Given the description of an element on the screen output the (x, y) to click on. 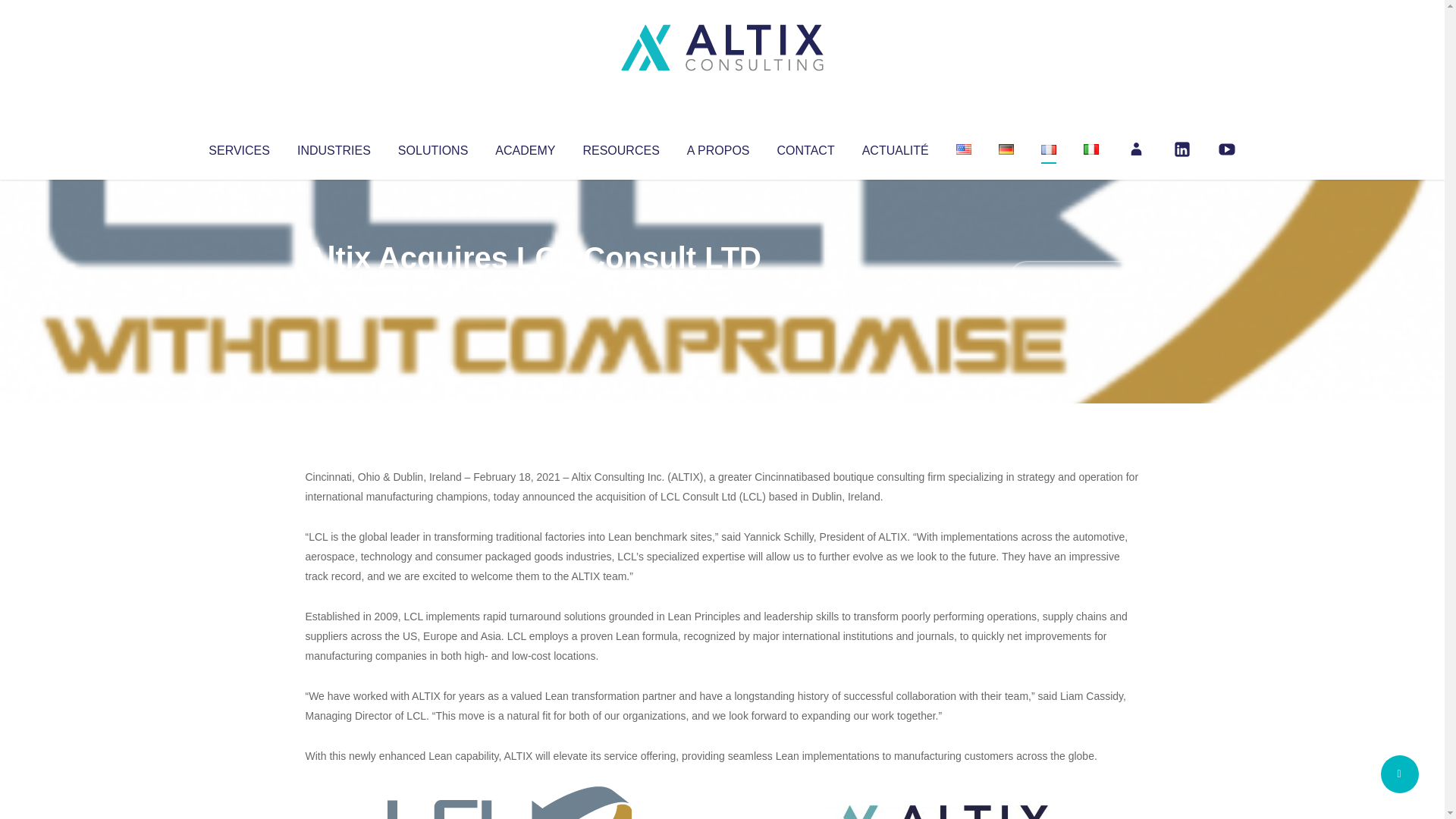
INDUSTRIES (334, 146)
Altix (333, 287)
A PROPOS (718, 146)
No Comments (1073, 278)
RESOURCES (620, 146)
SOLUTIONS (432, 146)
ACADEMY (524, 146)
SERVICES (238, 146)
Uncategorized (530, 287)
Articles par Altix (333, 287)
